Given the description of an element on the screen output the (x, y) to click on. 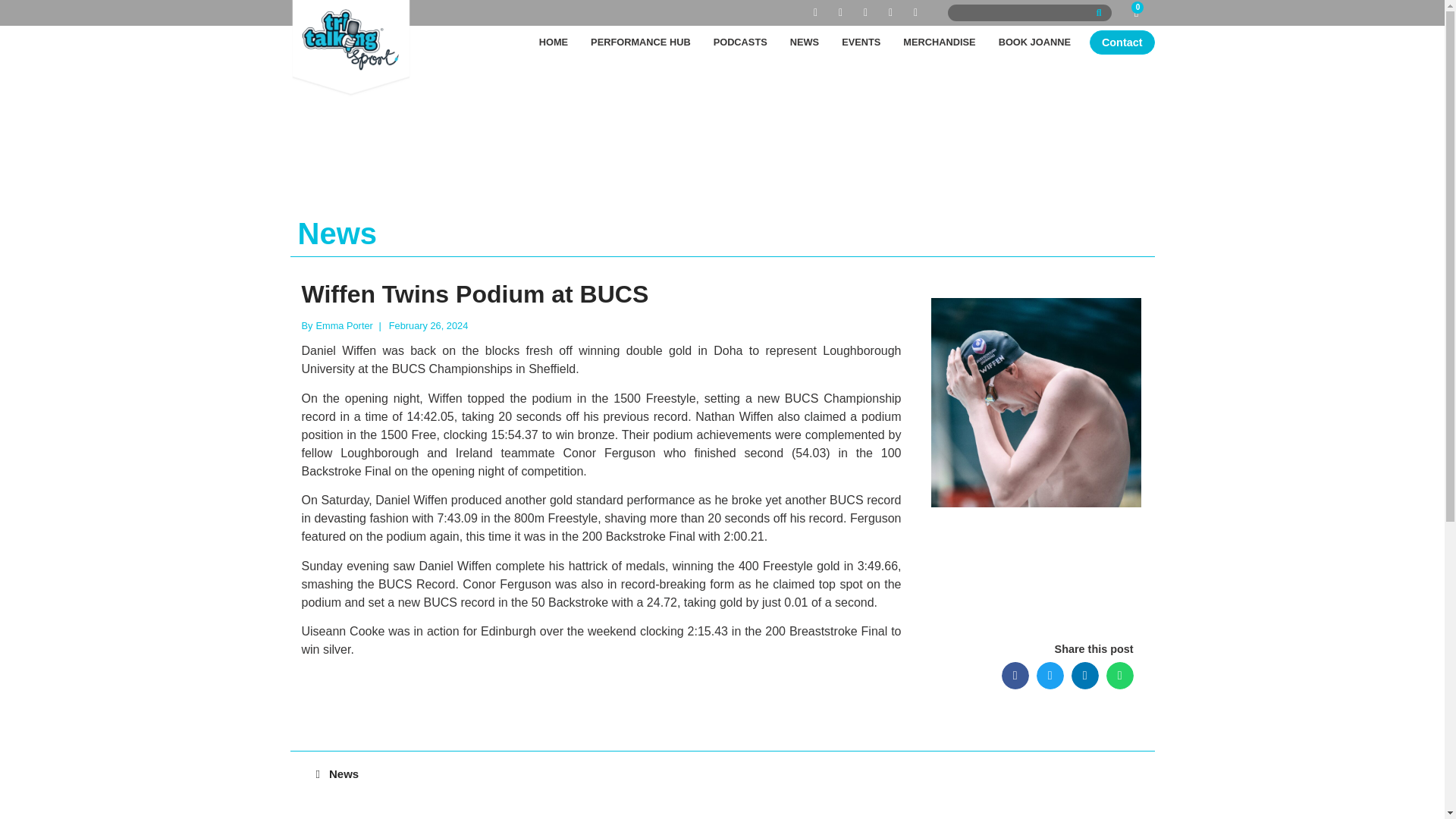
PODCASTS (739, 41)
PERFORMANCE HUB (640, 41)
EVENTS (860, 41)
MERCHANDISE (939, 41)
BOOK JOANNE (1034, 41)
HOME (553, 41)
Contact (1121, 42)
NEWS (803, 41)
